Given the description of an element on the screen output the (x, y) to click on. 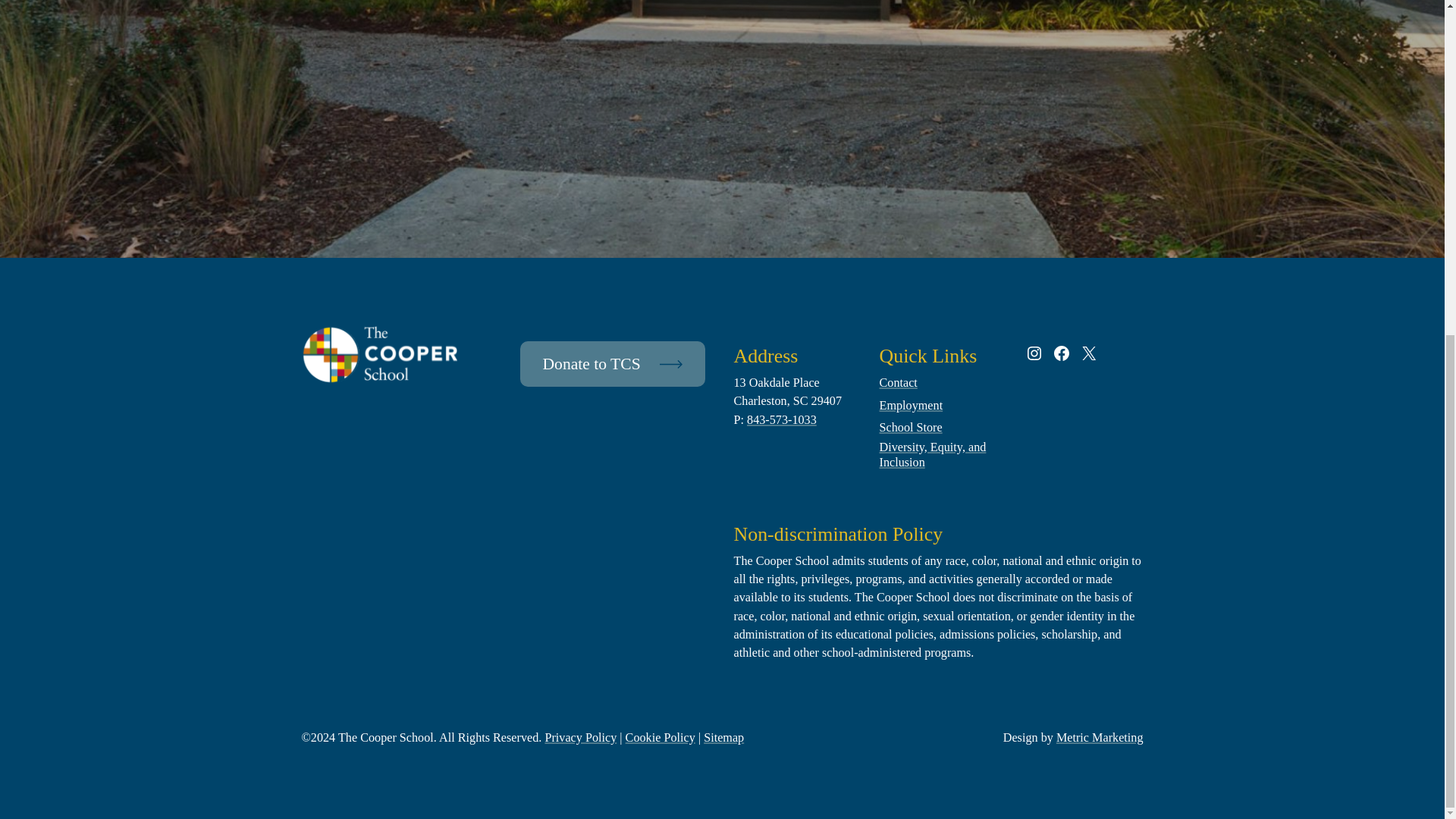
Cookie Policy  (660, 738)
Privacy Policy  (579, 738)
